Given the description of an element on the screen output the (x, y) to click on. 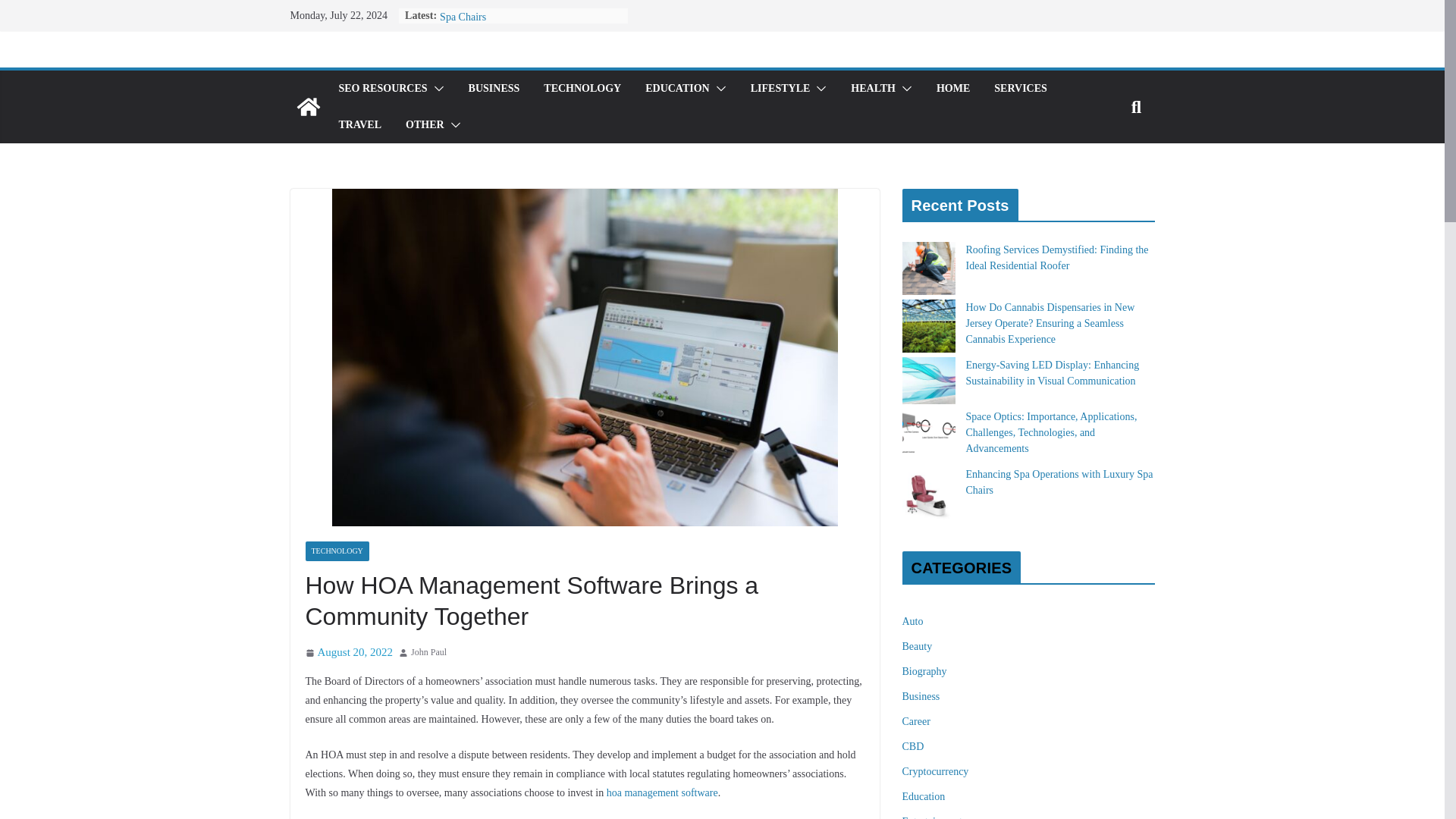
LIFESTYLE (780, 88)
John Paul (428, 652)
TECHNOLOGY (582, 88)
hoa management software (662, 792)
Enhancing Spa Operations with Luxury Spa Chairs (523, 11)
TRAVEL (359, 124)
SERVICES (1020, 88)
John Paul (428, 652)
4:49 pm (348, 652)
HEALTH (872, 88)
Enhancing Spa Operations with Luxury Spa Chairs (523, 11)
BUSINESS (493, 88)
OTHER (425, 124)
